Given the description of an element on the screen output the (x, y) to click on. 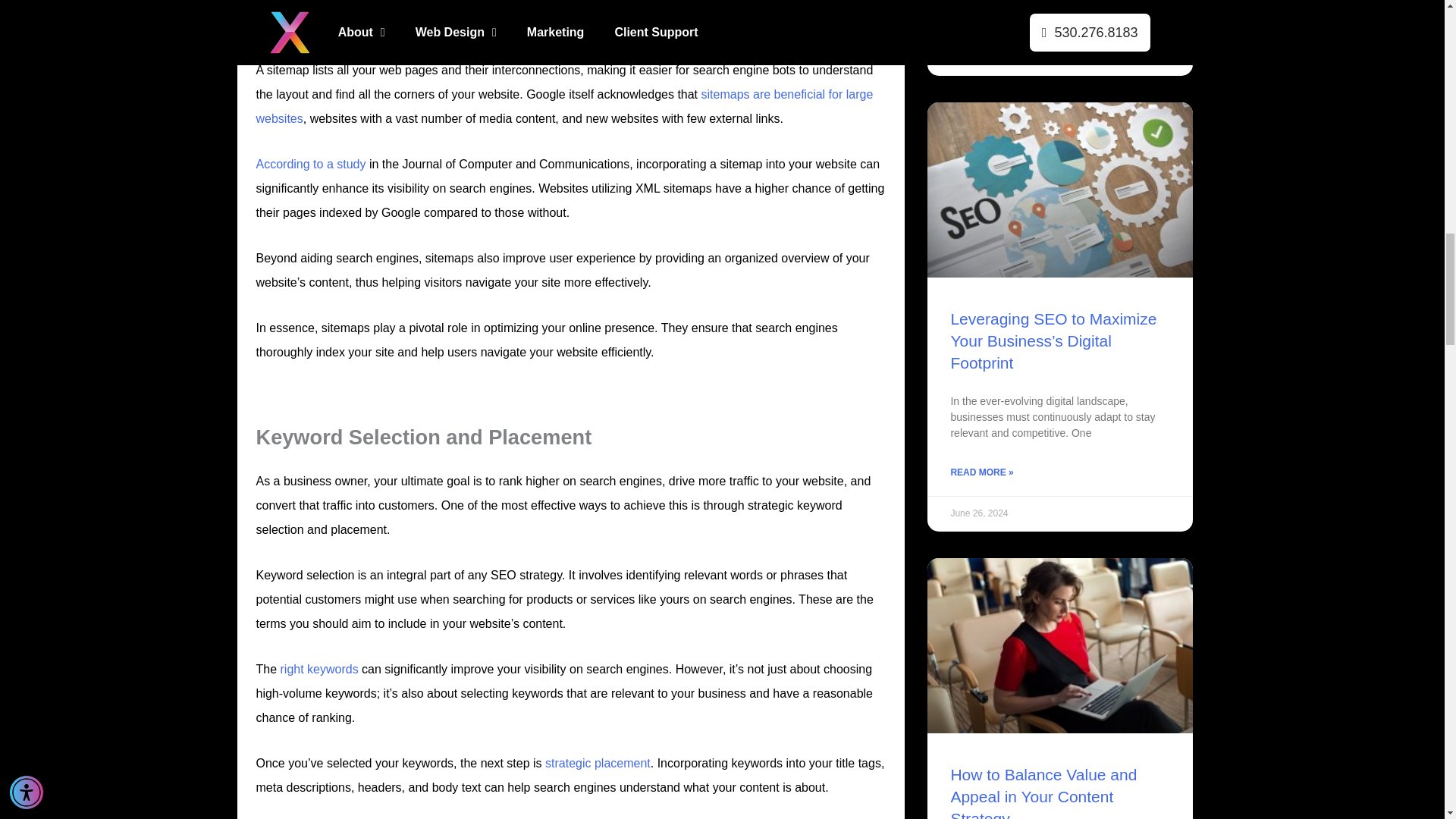
According to a study (311, 164)
right keywords (317, 668)
strategic placement (595, 762)
sitemaps are beneficial for large websites (564, 106)
